Given the description of an element on the screen output the (x, y) to click on. 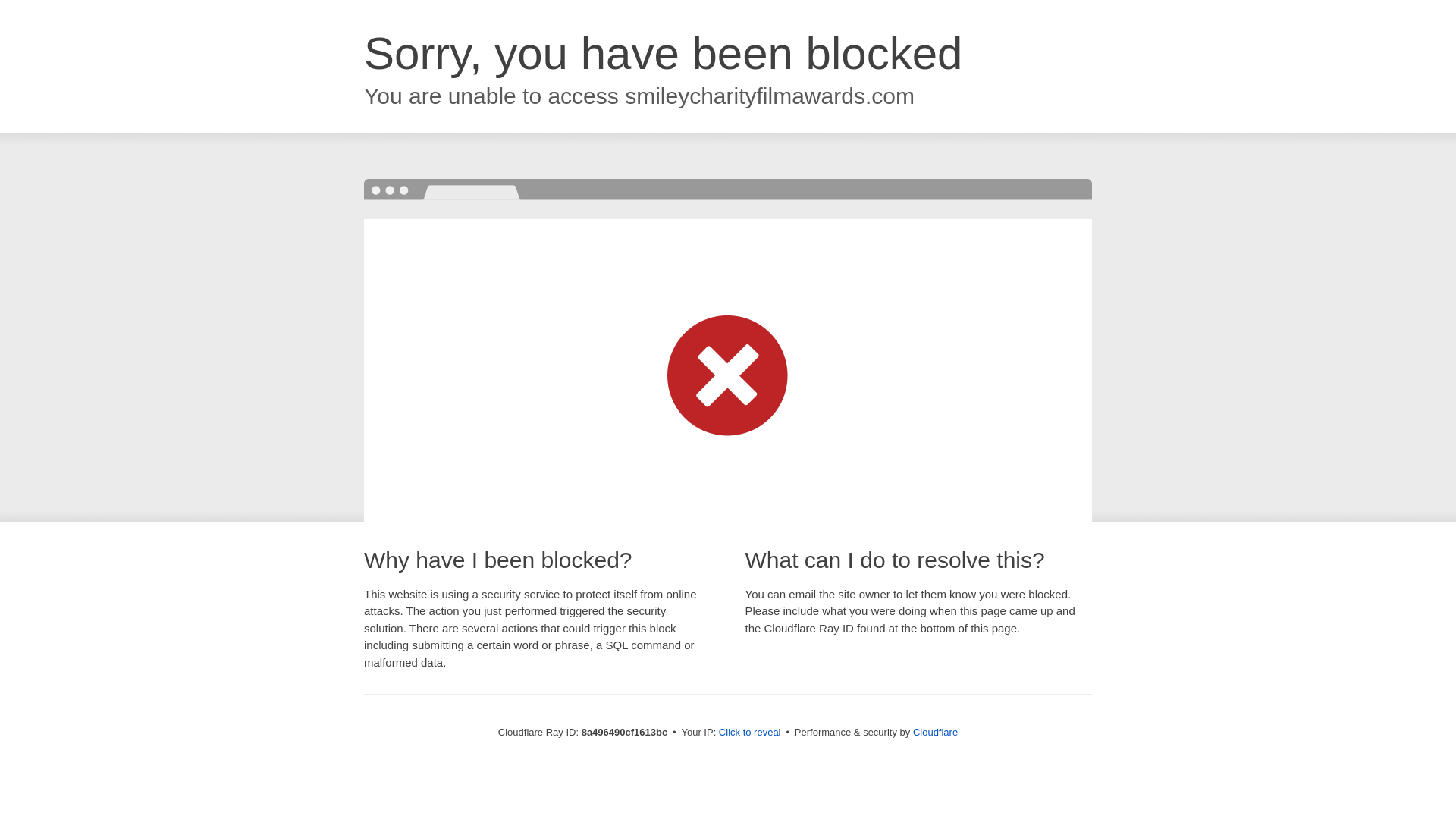
Cloudflare (935, 731)
Click to reveal (749, 732)
